Given the description of an element on the screen output the (x, y) to click on. 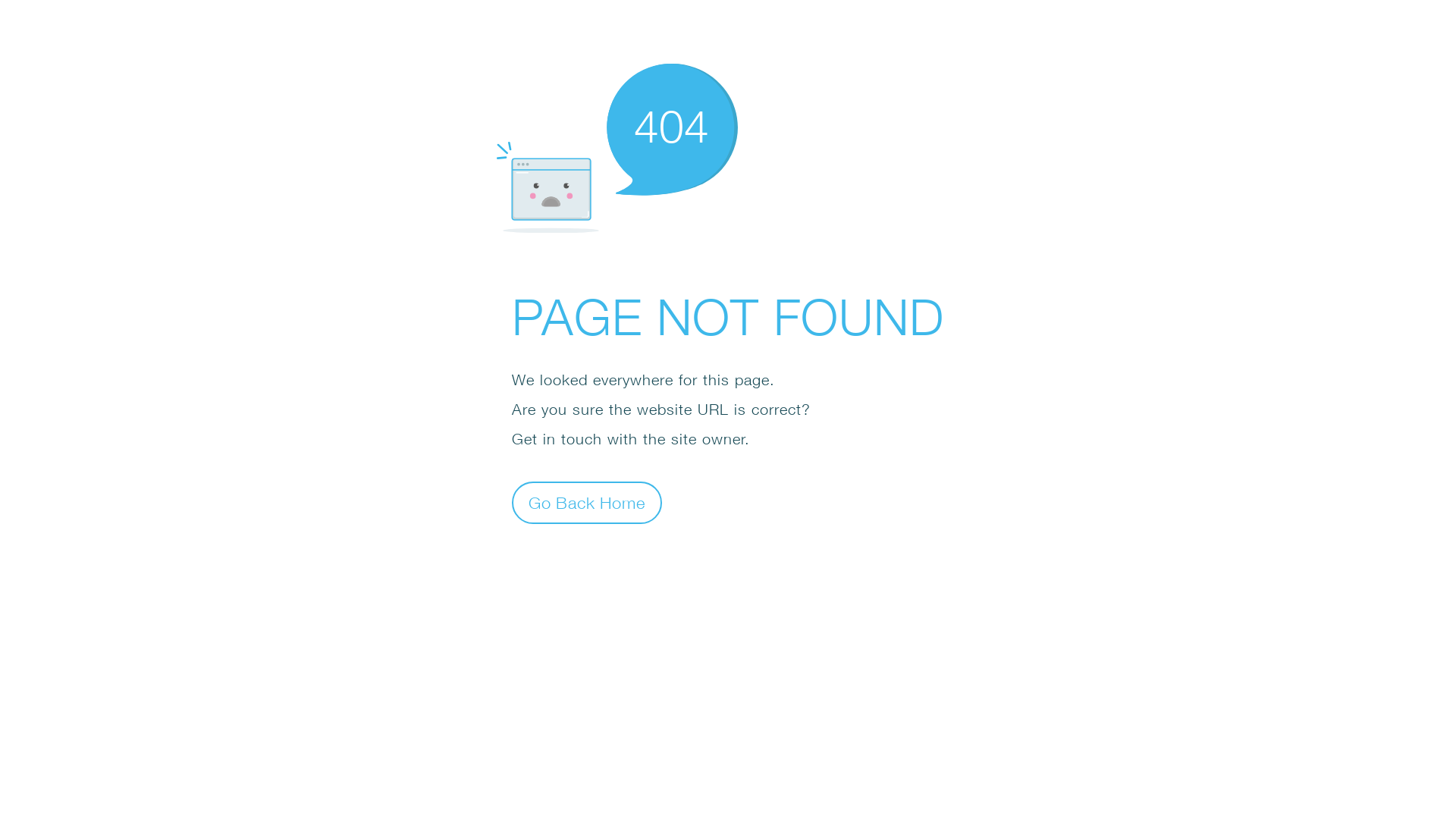
Go Back Home Element type: text (586, 502)
